Given the description of an element on the screen output the (x, y) to click on. 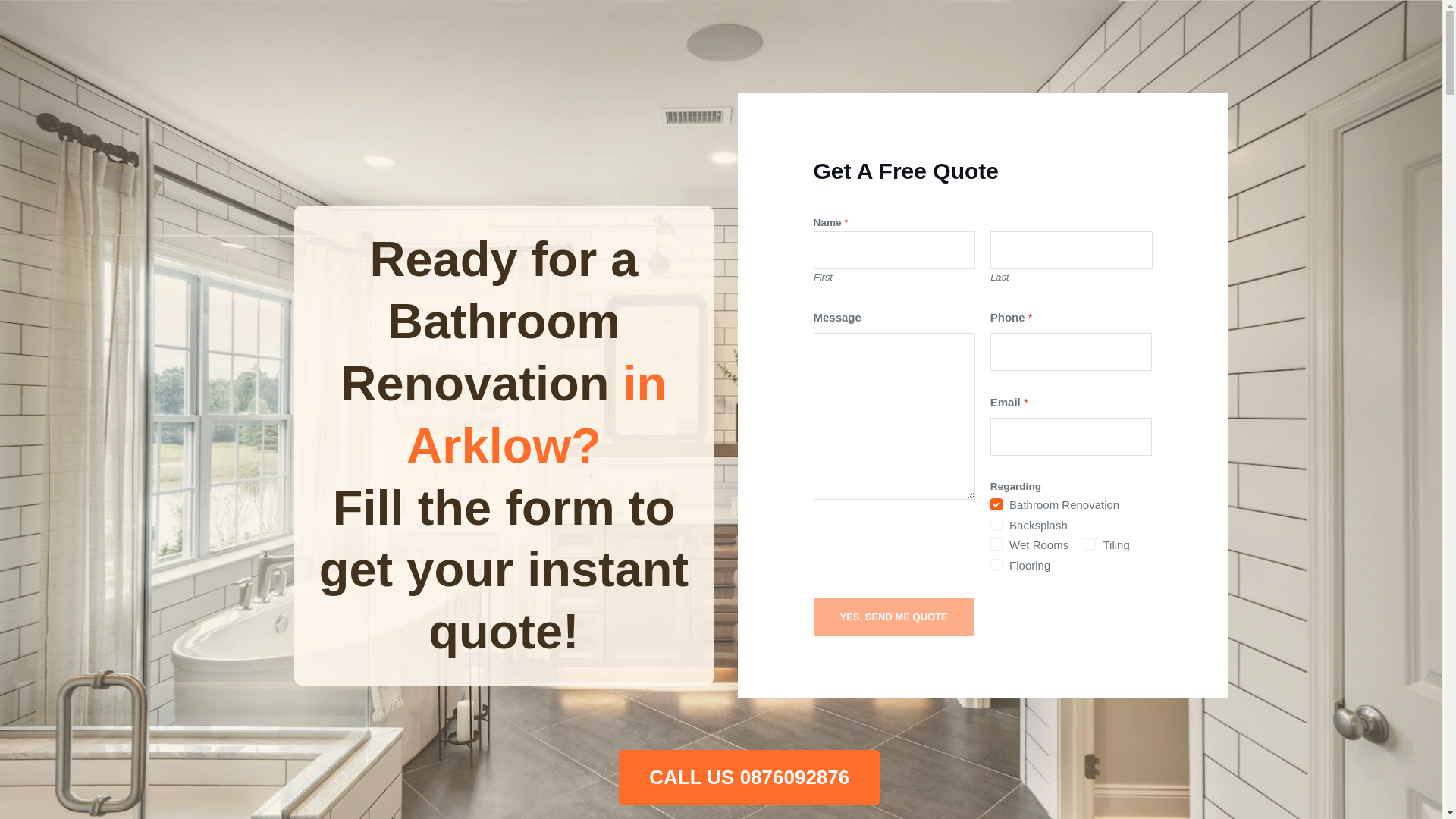
Tiling (1089, 544)
Bathroom Renovation (996, 503)
CALL US 0876092876 (748, 777)
Wet Rooms (996, 544)
Flooring (996, 564)
YES, SEND ME QUOTE (893, 617)
Backsplash (996, 524)
